Given the description of an element on the screen output the (x, y) to click on. 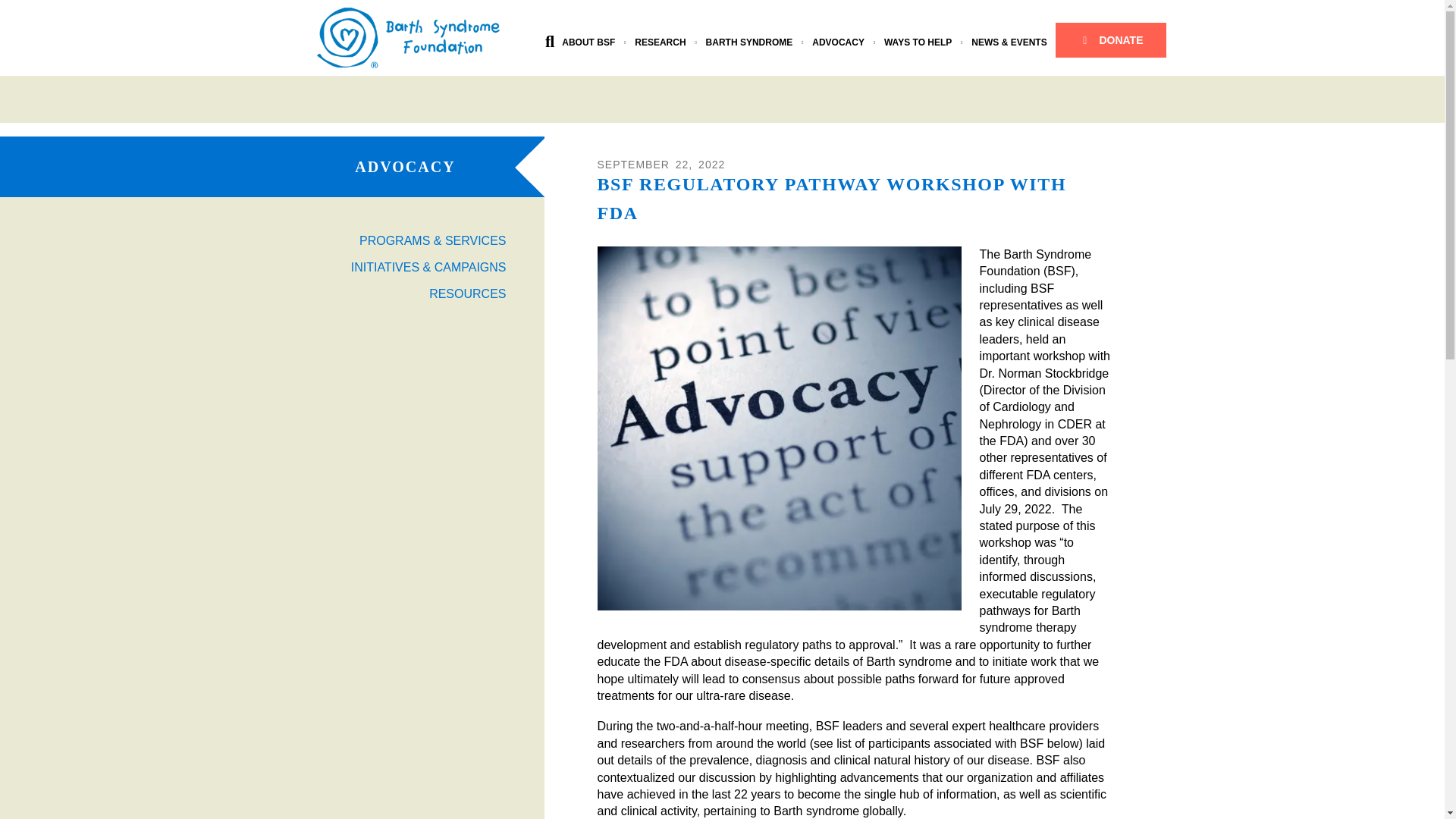
logo (408, 37)
